Given the description of an element on the screen output the (x, y) to click on. 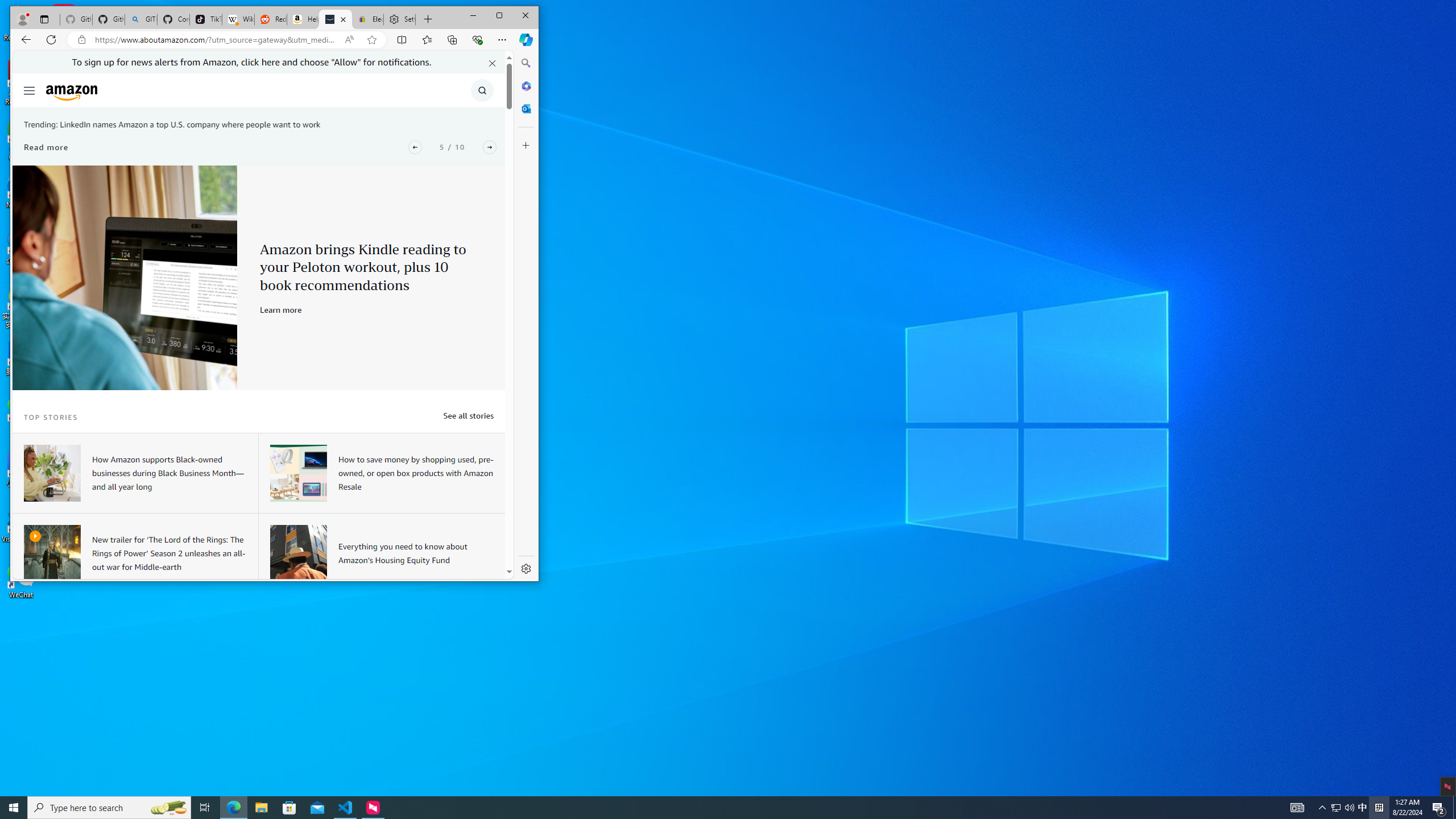
Search highlights icon opens search home window (167, 807)
Learn more (280, 309)
Class: burger-menu (28, 89)
Microsoft Store (289, 807)
Menu (29, 90)
Class: flickity-button-icon (489, 146)
